Given the description of an element on the screen output the (x, y) to click on. 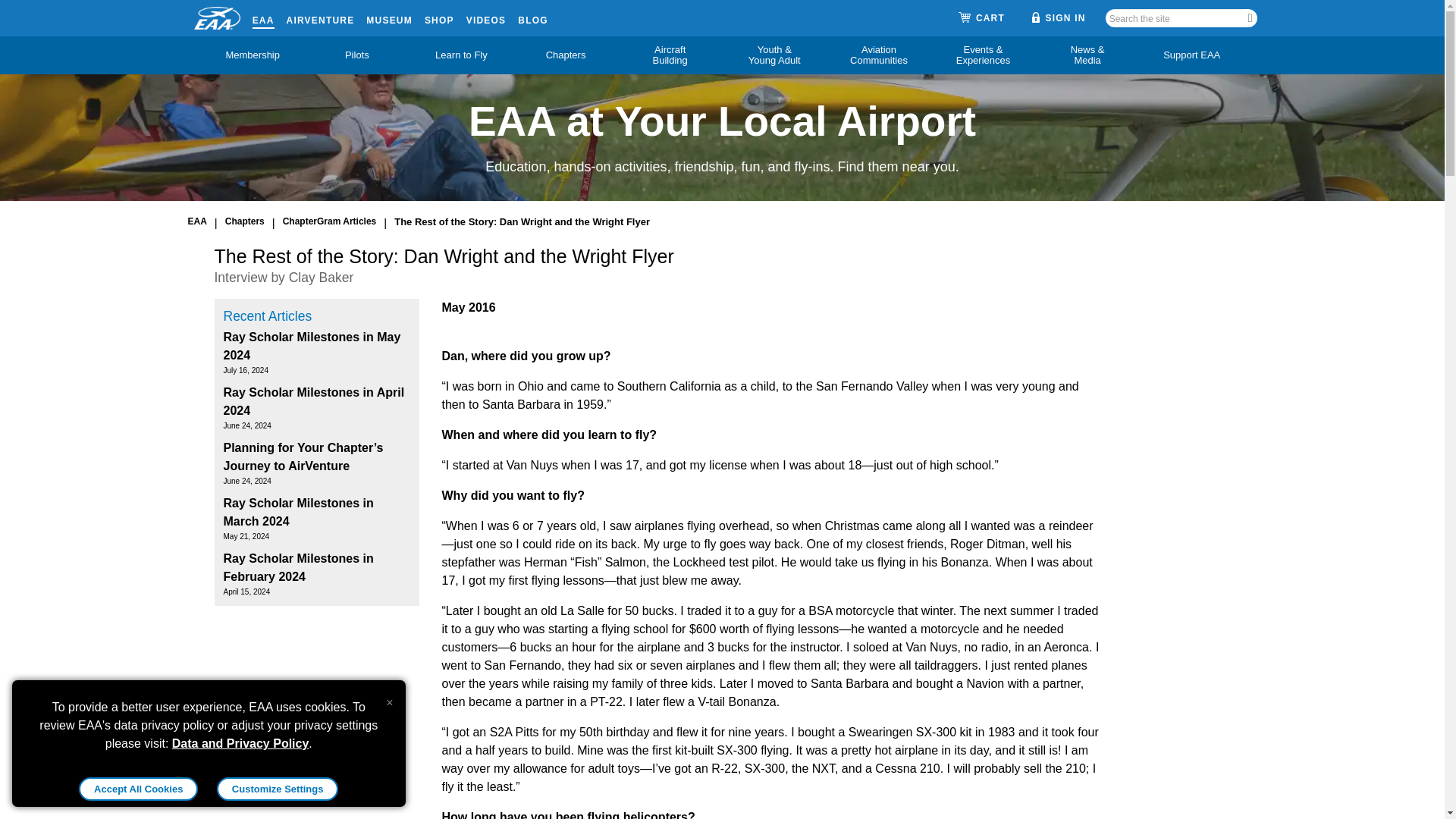
AIRVENTURE (320, 17)
EAA (263, 17)
MUSEUM (389, 17)
VIDEOS (485, 17)
SIGN IN (1059, 18)
SHOP (439, 17)
BLOG (532, 17)
CART (980, 18)
